Given the description of an element on the screen output the (x, y) to click on. 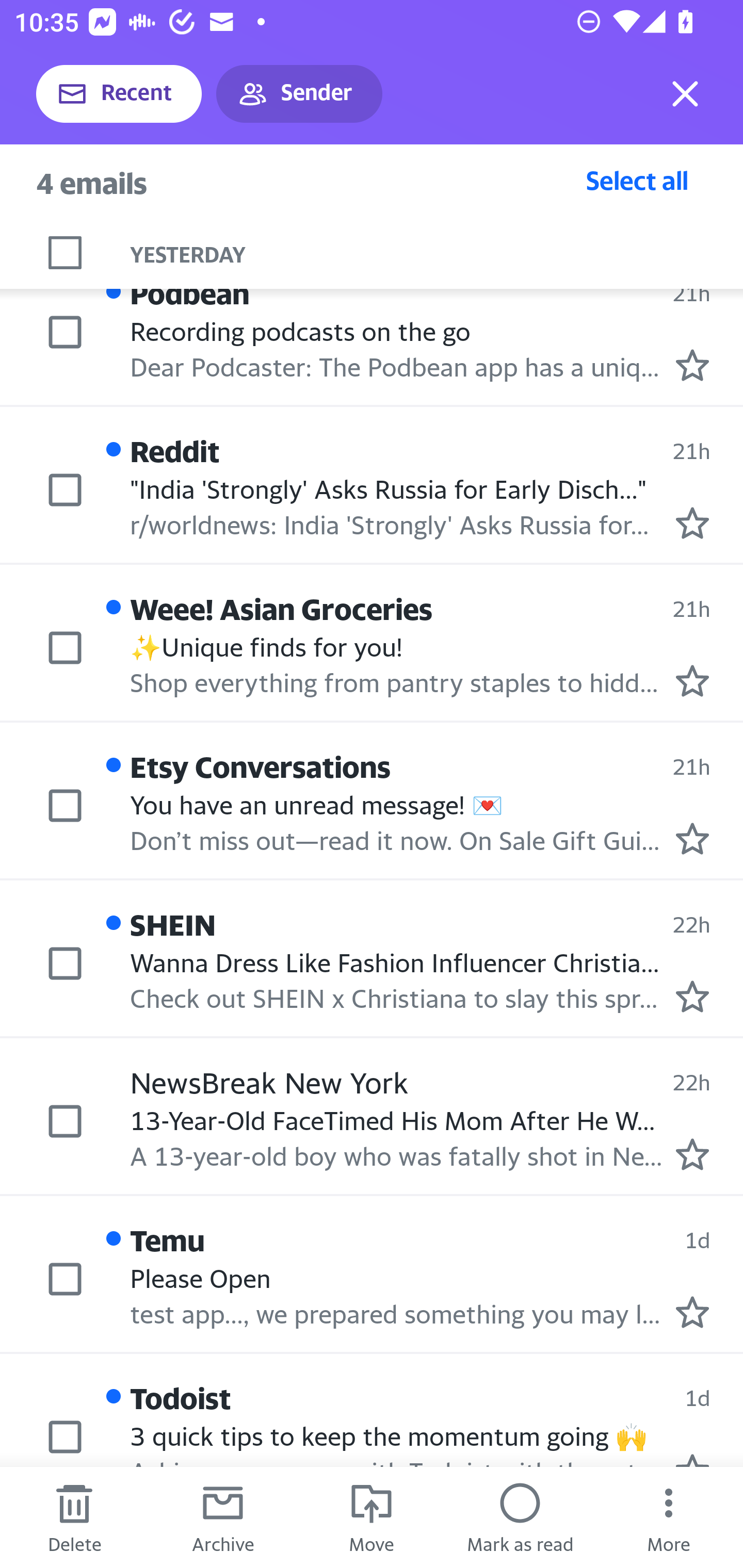
Sender (299, 93)
Exit selection mode (684, 93)
Select all (637, 180)
Mark as starred. (692, 364)
Mark as starred. (692, 522)
Mark as starred. (692, 681)
Mark as starred. (692, 838)
Mark as starred. (692, 996)
Mark as starred. (692, 1154)
Mark as starred. (692, 1311)
Delete (74, 1517)
Archive (222, 1517)
Move (371, 1517)
Mark as read (519, 1517)
More (668, 1517)
